Given the description of an element on the screen output the (x, y) to click on. 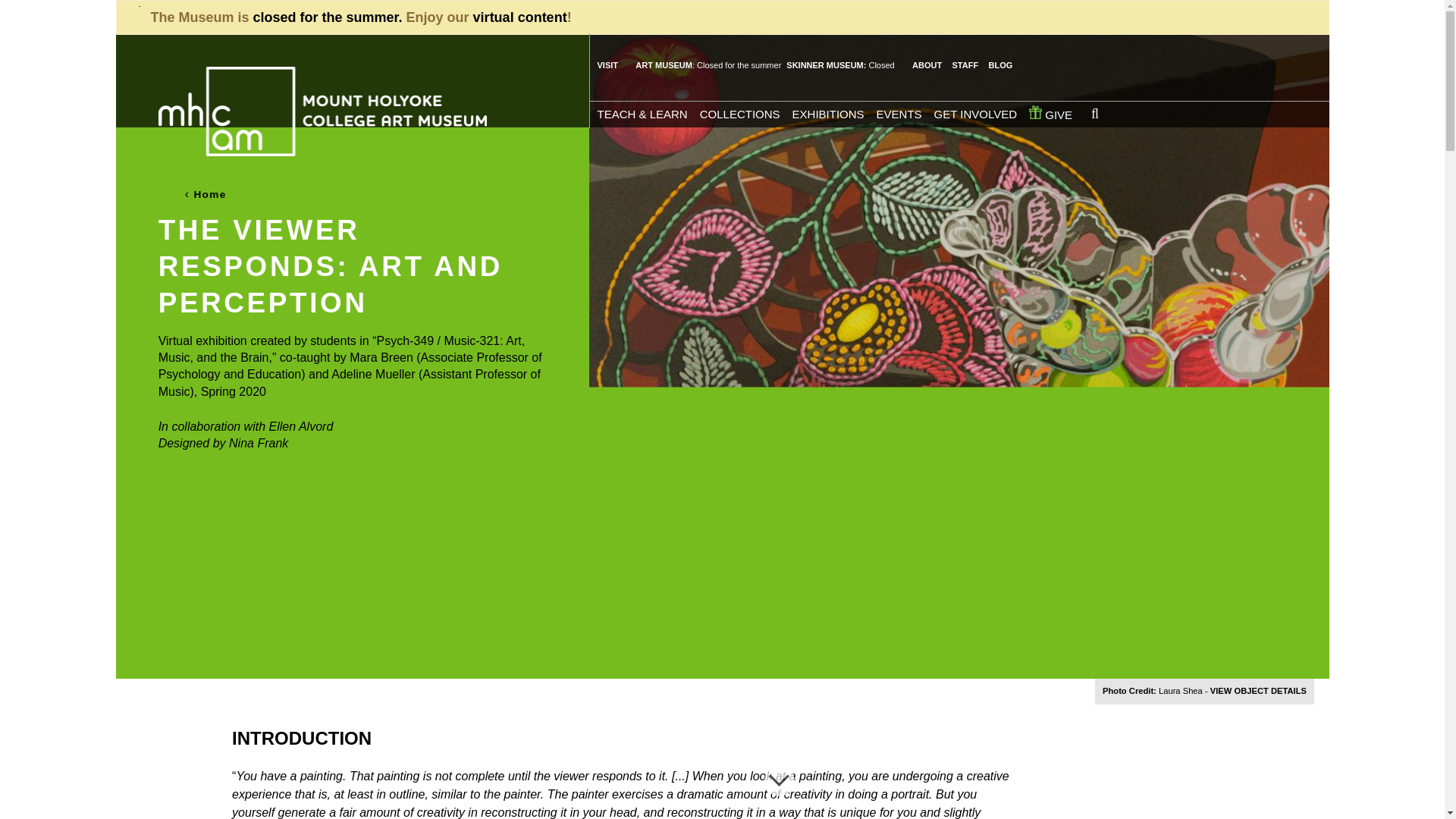
Mount Holyoke College Art Museum (322, 111)
closed for the summer. (328, 17)
